Given the description of an element on the screen output the (x, y) to click on. 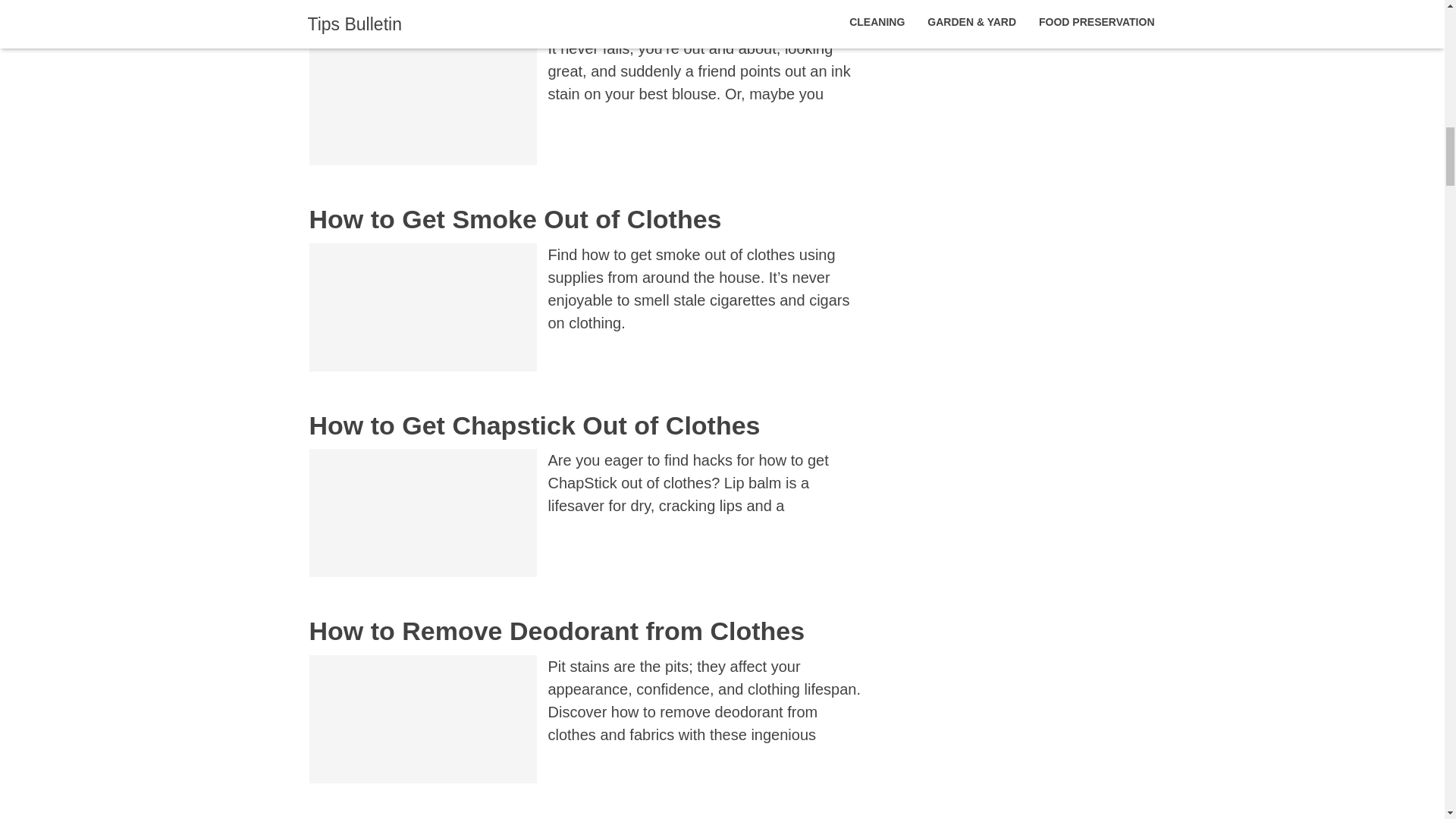
How to Get Smoke Out of Clothes (515, 218)
How to Get Chapstick Out of Clothes (534, 425)
How to Get Pen Ink Out of Clothes (518, 13)
How to Remove Deodorant from Clothes (556, 630)
